Given the description of an element on the screen output the (x, y) to click on. 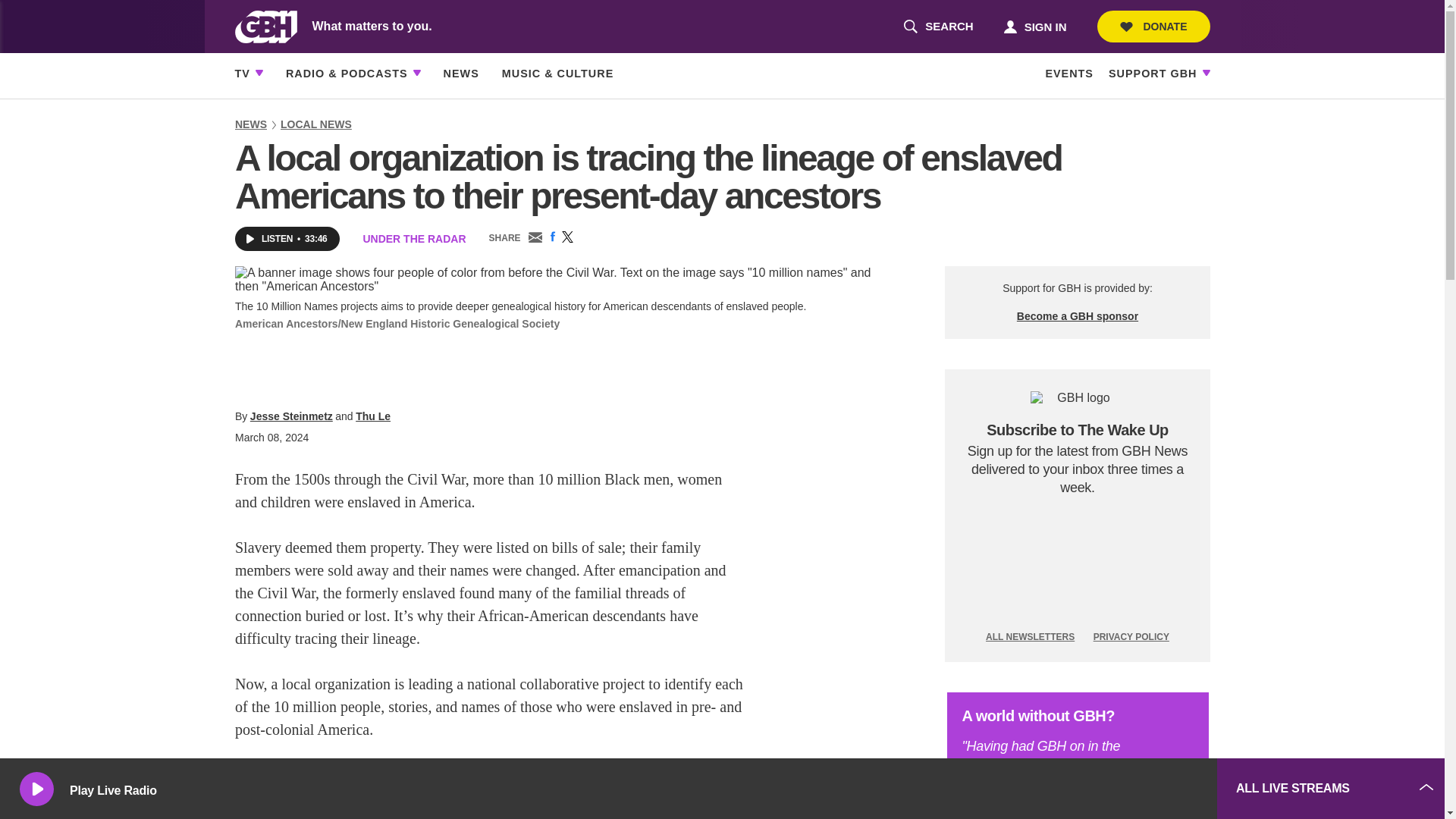
DONATE (1153, 26)
GBH Inline form (937, 26)
SIGN IN (1076, 570)
